Given the description of an element on the screen output the (x, y) to click on. 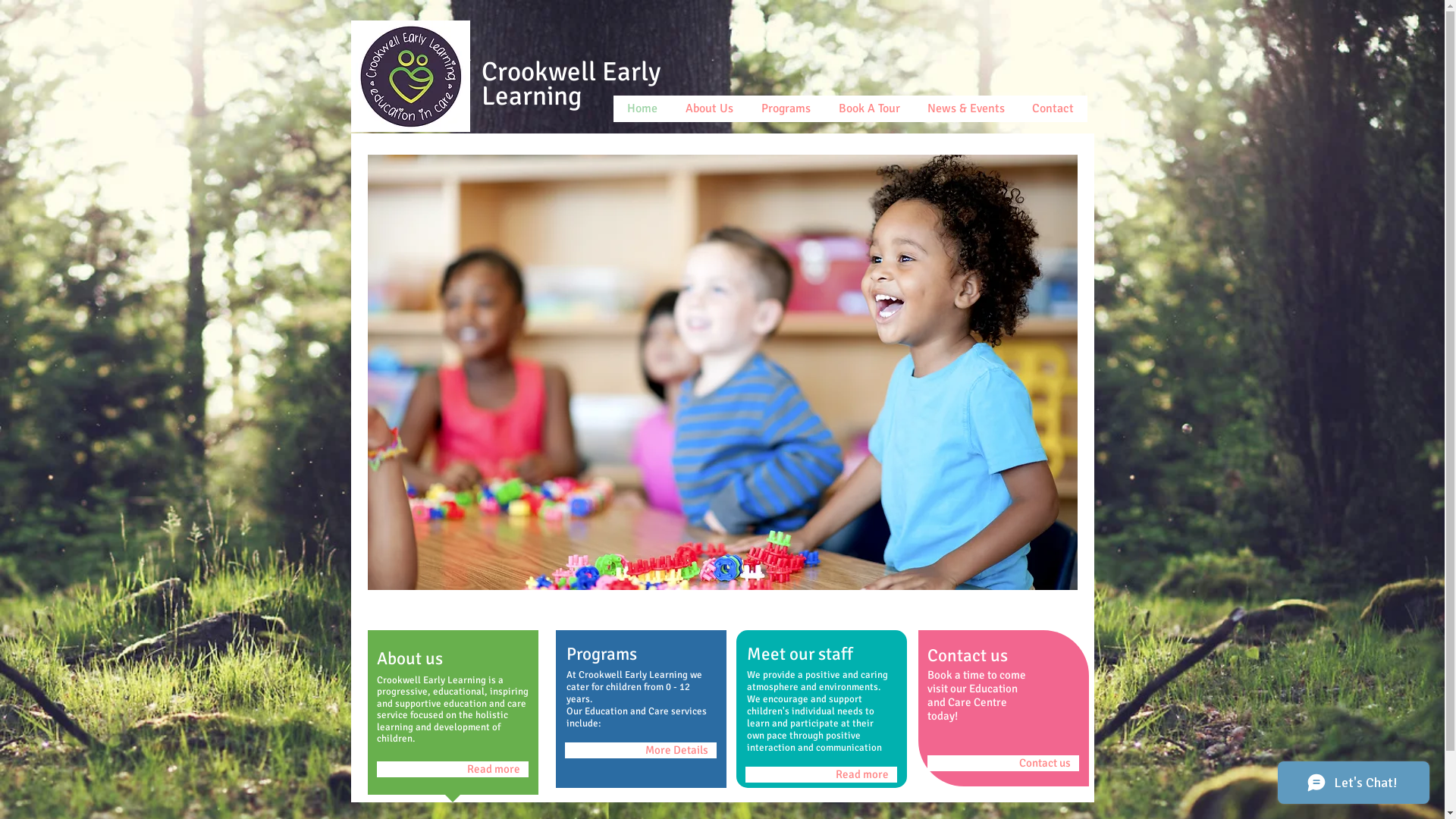
Read more Element type: text (451, 769)
Programs Element type: text (784, 108)
More Details Element type: text (639, 750)
Read more Element type: text (820, 774)
Contact us Element type: text (1002, 763)
News & Events Element type: text (965, 108)
Contact Element type: text (1051, 108)
Home Element type: text (641, 108)
Crookwell Element type: text (537, 71)
Book A Tour Element type: text (868, 108)
About Us Element type: text (708, 108)
